Given the description of an element on the screen output the (x, y) to click on. 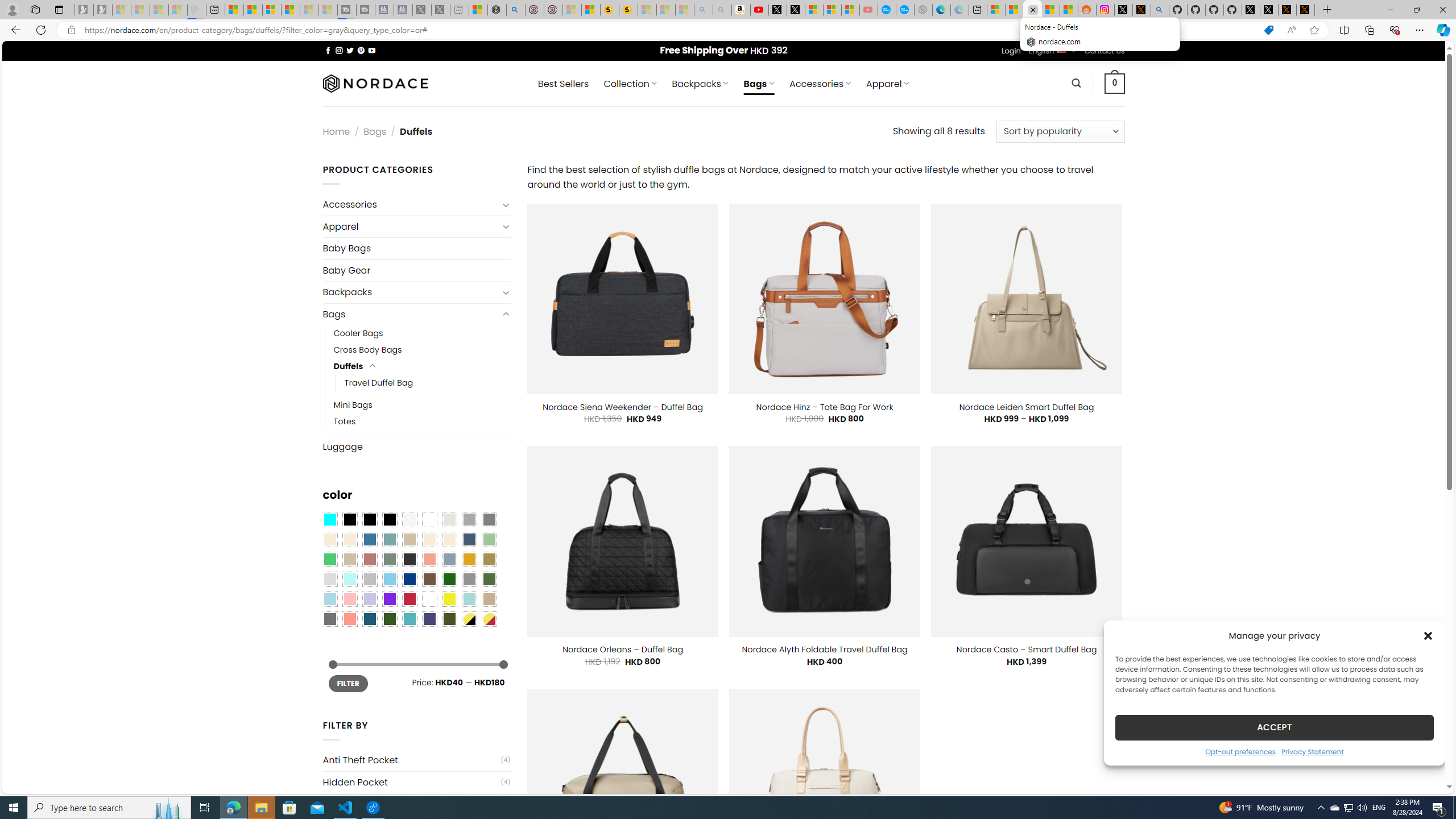
Capri Blue (369, 618)
Accessories (410, 204)
FILTER (347, 683)
Gloom - YouTube - Sleeping (868, 9)
Hidden Pocket(4) (416, 781)
Army Green (449, 618)
Purple Navy (429, 618)
Cross Body Bags (367, 349)
